Given the description of an element on the screen output the (x, y) to click on. 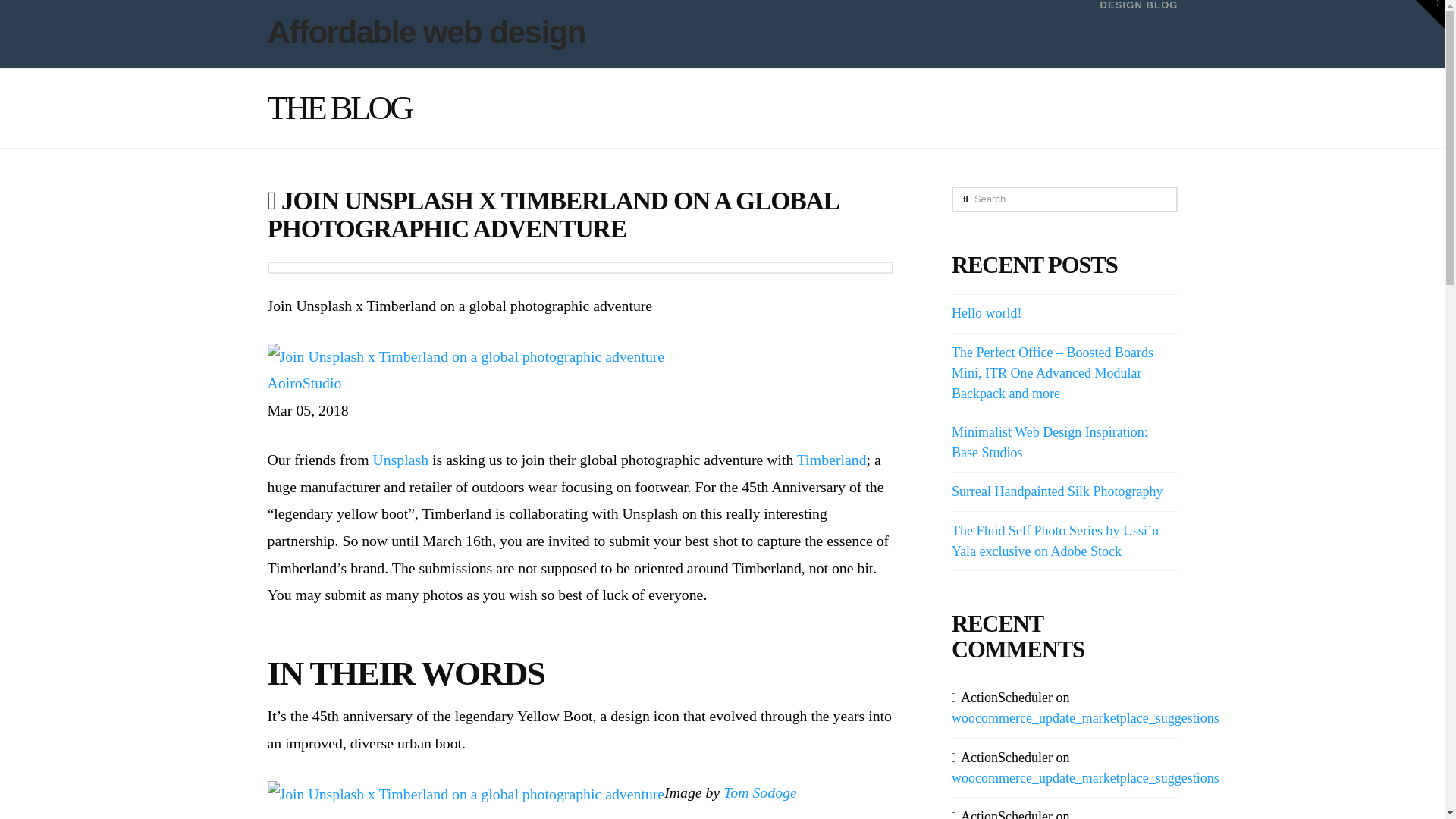
DESIGN BLOG (1130, 33)
Timberland (831, 459)
Affordable web design (425, 32)
Tom Sodoge (759, 791)
View user profile. (303, 382)
Unsplash (400, 459)
AoiroStudio (303, 382)
Minimalist Web Design Inspiration: Base Studios (1050, 442)
Surreal Handpainted Silk Photography (1056, 491)
Hello world! (987, 313)
